Given the description of an element on the screen output the (x, y) to click on. 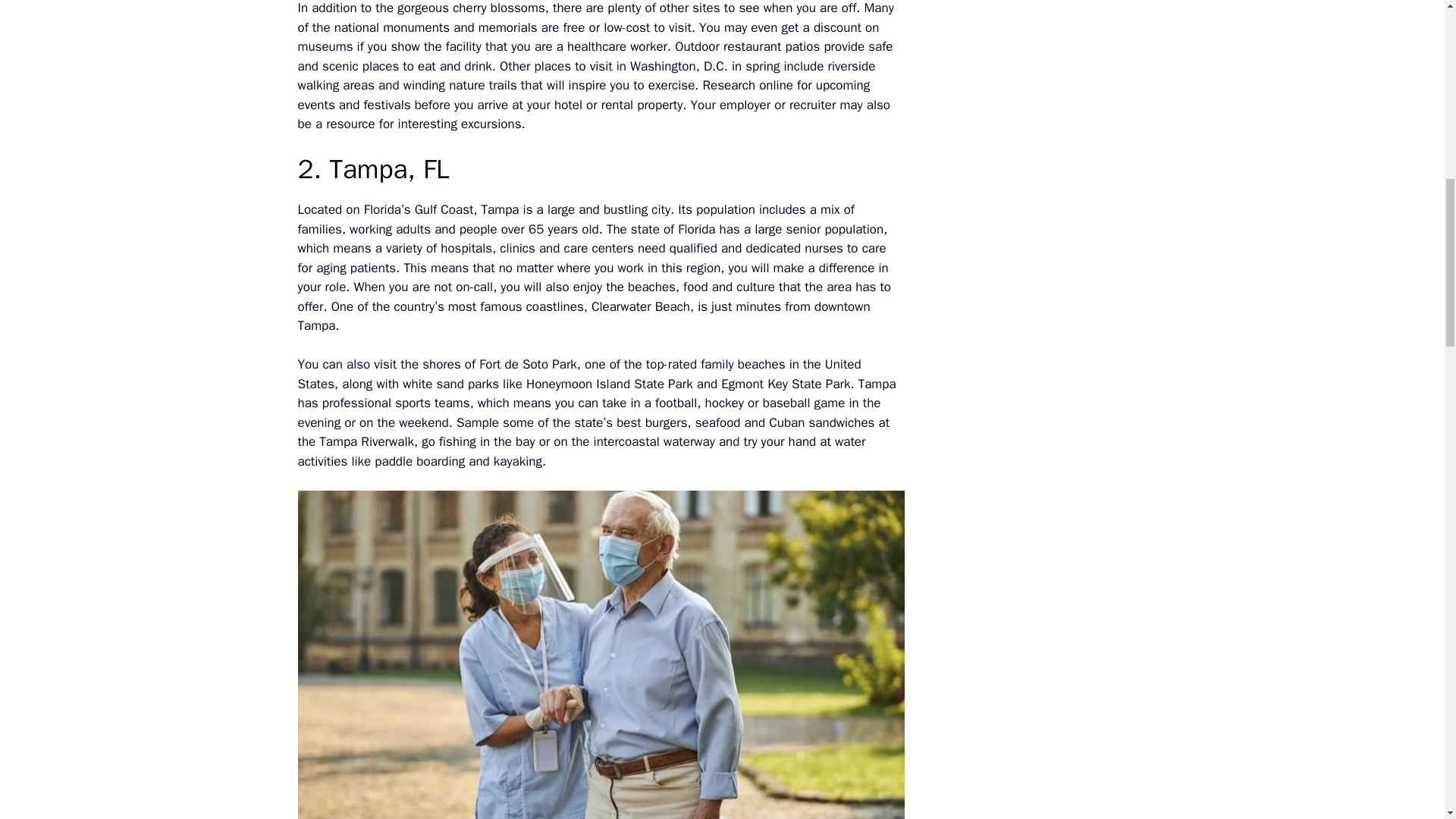
state of Florida has a large senior population (756, 229)
Scroll back to top (1406, 720)
places to visit in Washington, D.C. in spring (656, 66)
Clearwater Beach (640, 306)
